Given the description of an element on the screen output the (x, y) to click on. 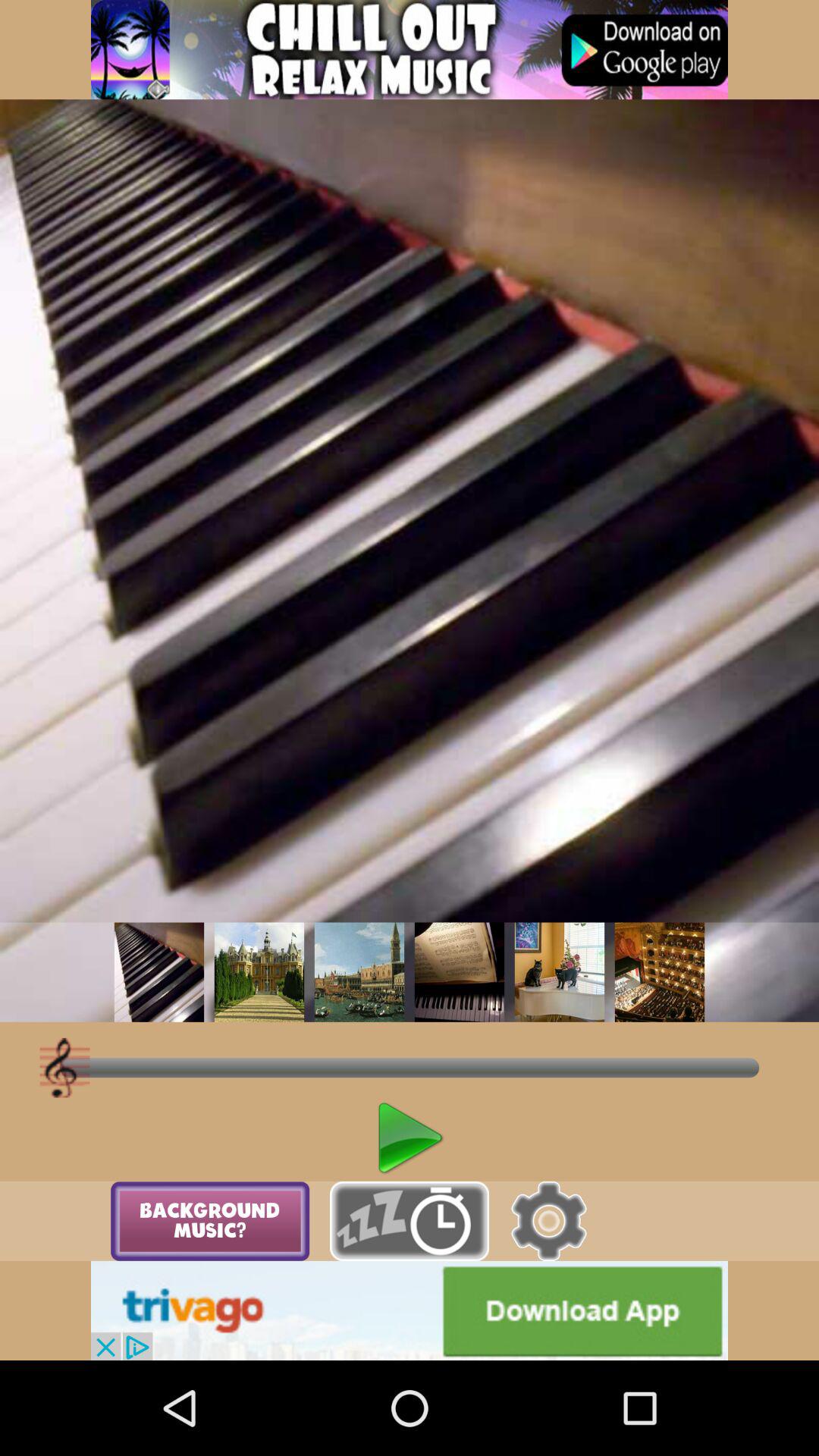
select image (259, 972)
